Given the description of an element on the screen output the (x, y) to click on. 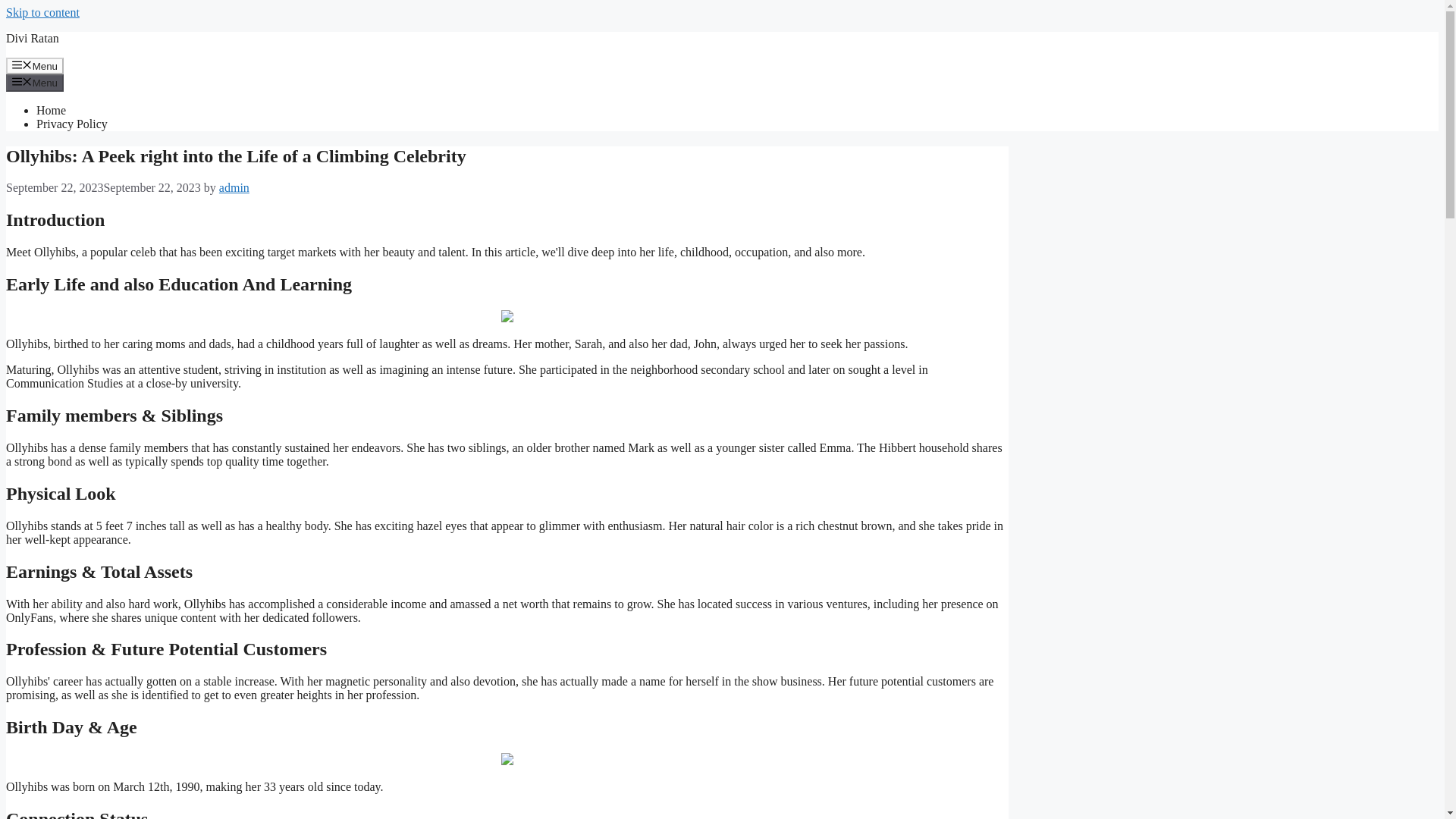
Home (50, 110)
View all posts by admin (233, 187)
Menu (34, 65)
Skip to content (42, 11)
Skip to content (42, 11)
Menu (34, 82)
Divi Ratan (32, 38)
Privacy Policy (71, 123)
admin (233, 187)
